Given the description of an element on the screen output the (x, y) to click on. 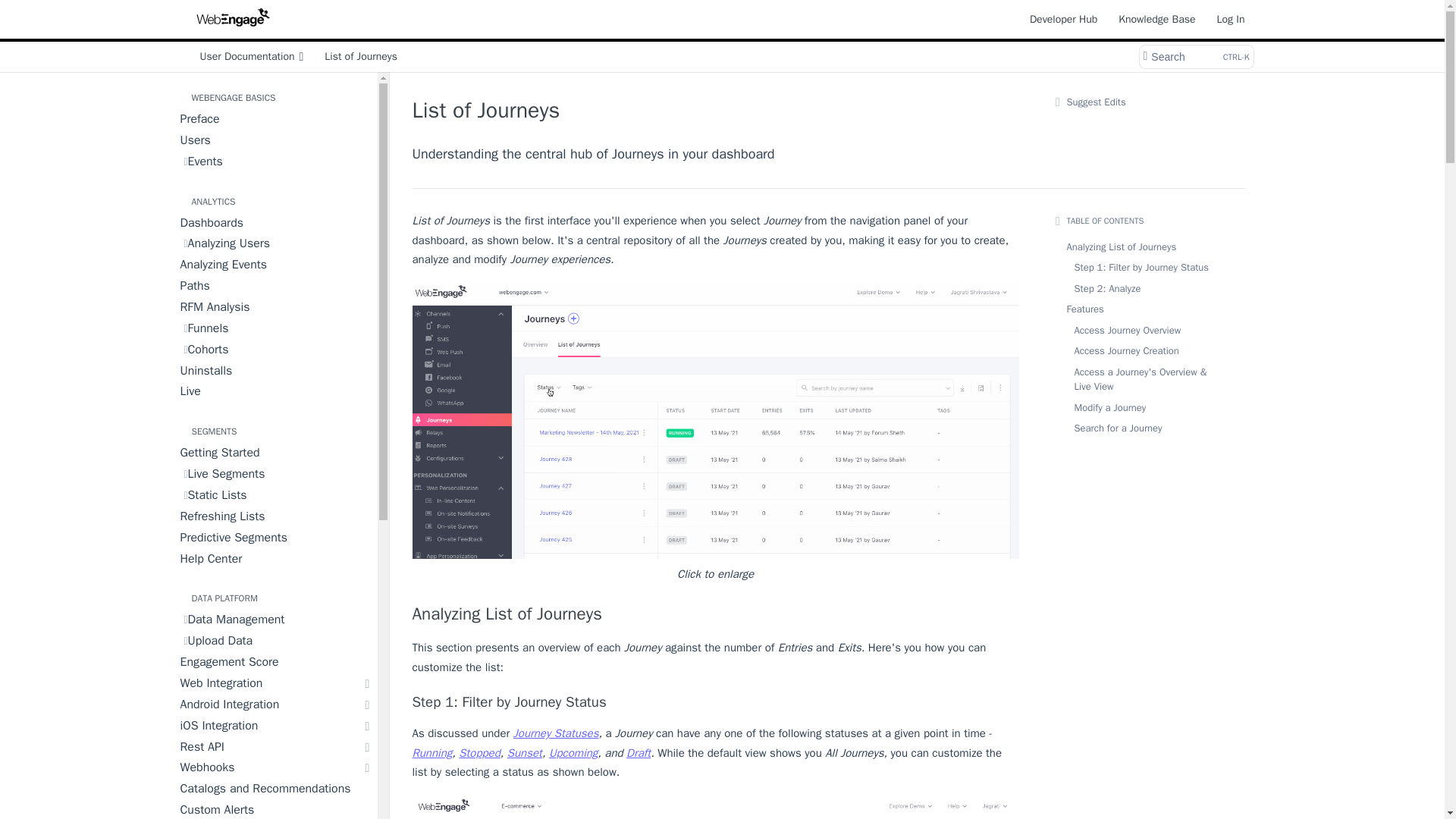
Dashboards (277, 223)
RFM Analysis (277, 307)
Funnels (277, 329)
list-of-journey-filter.png (715, 806)
Cohorts (277, 350)
Developer Hub (1195, 56)
access-journey.gif (1063, 18)
Paths (277, 119)
Analyzing List of Journeys (277, 286)
User Documentation (715, 614)
Uninstalls (250, 56)
Events (277, 371)
Knowledge Base (277, 162)
